Given the description of an element on the screen output the (x, y) to click on. 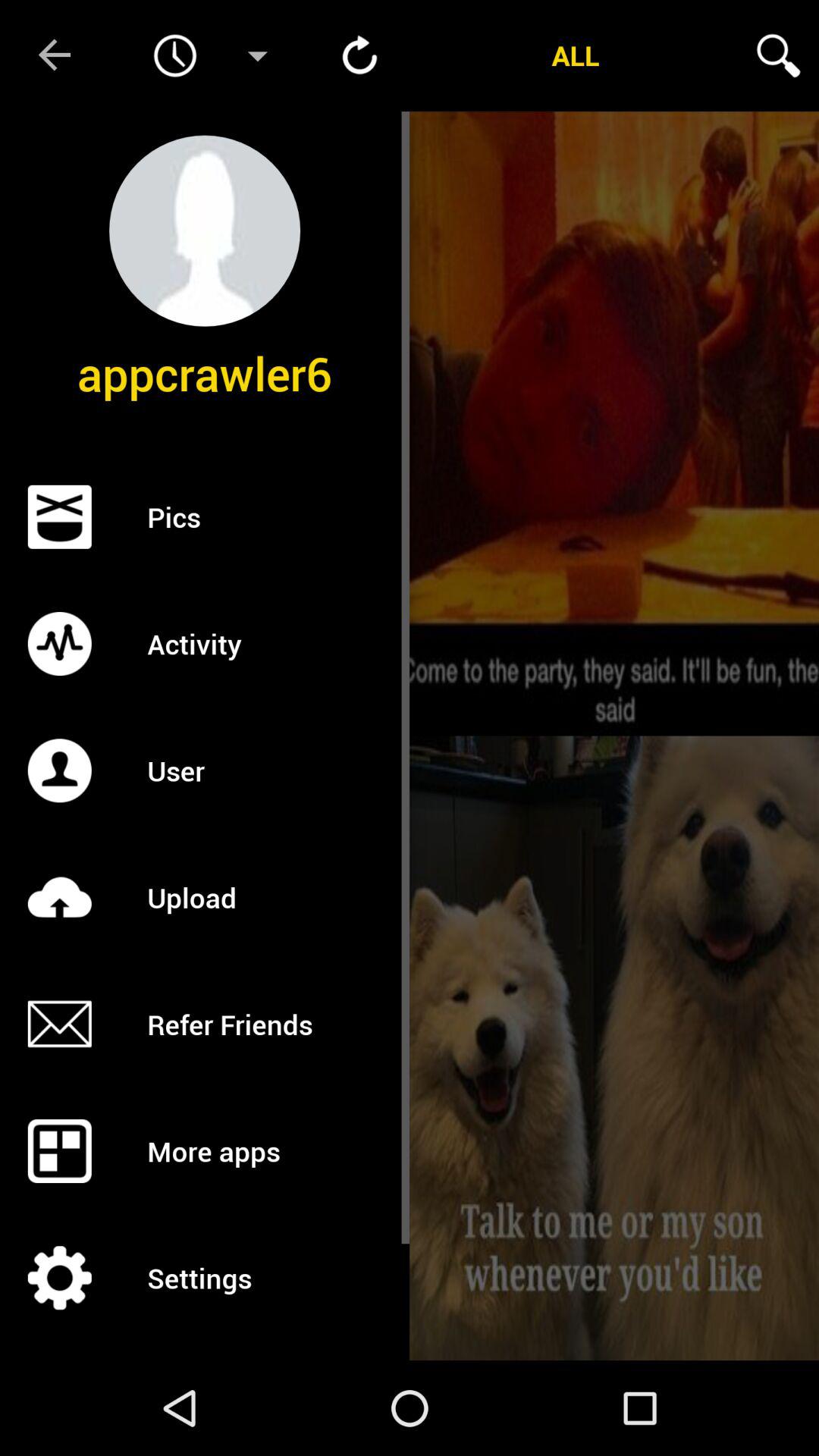
search option (778, 55)
